Given the description of an element on the screen output the (x, y) to click on. 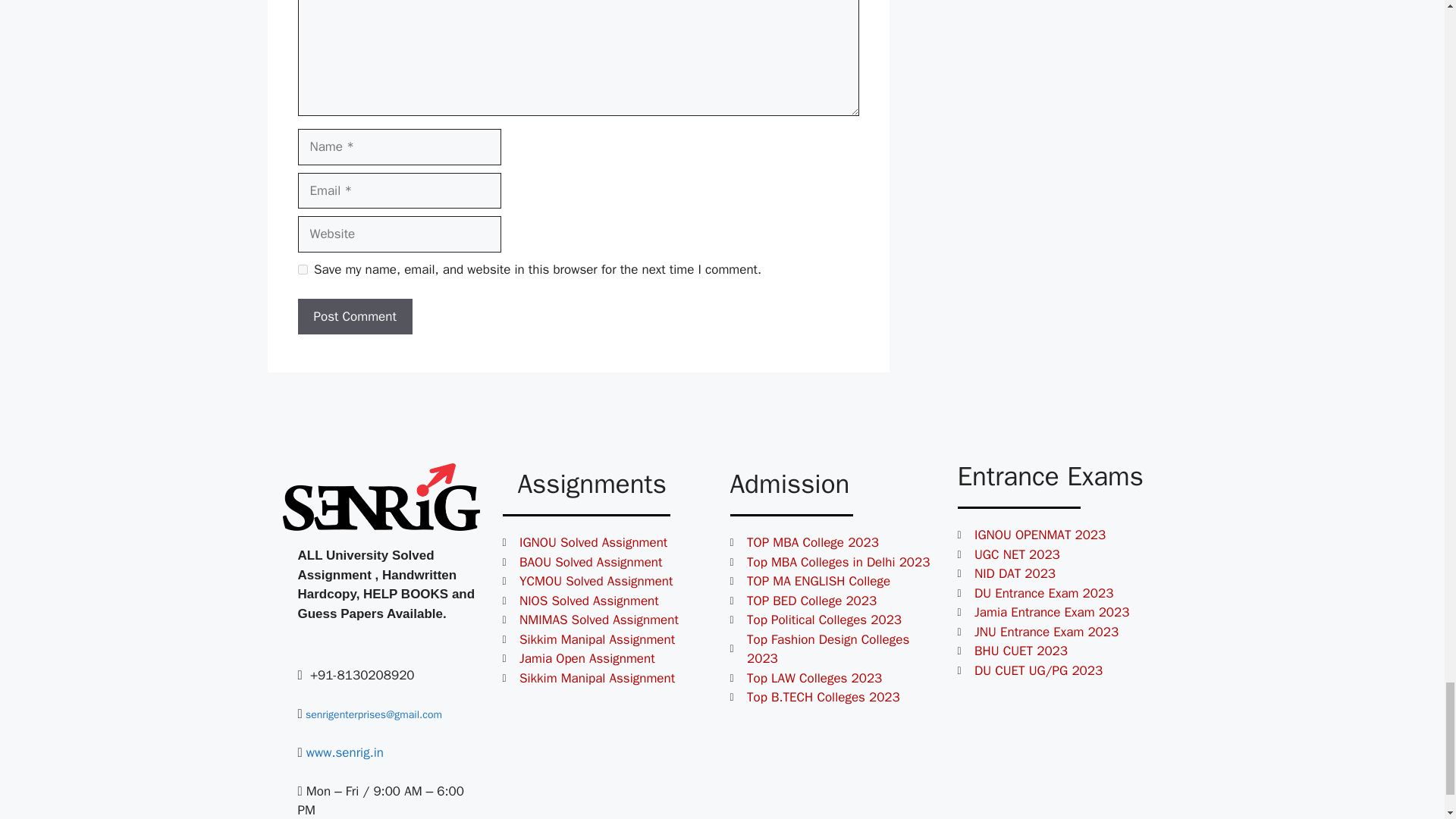
Post Comment (354, 316)
yes (302, 269)
Post Comment (354, 316)
